Given the description of an element on the screen output the (x, y) to click on. 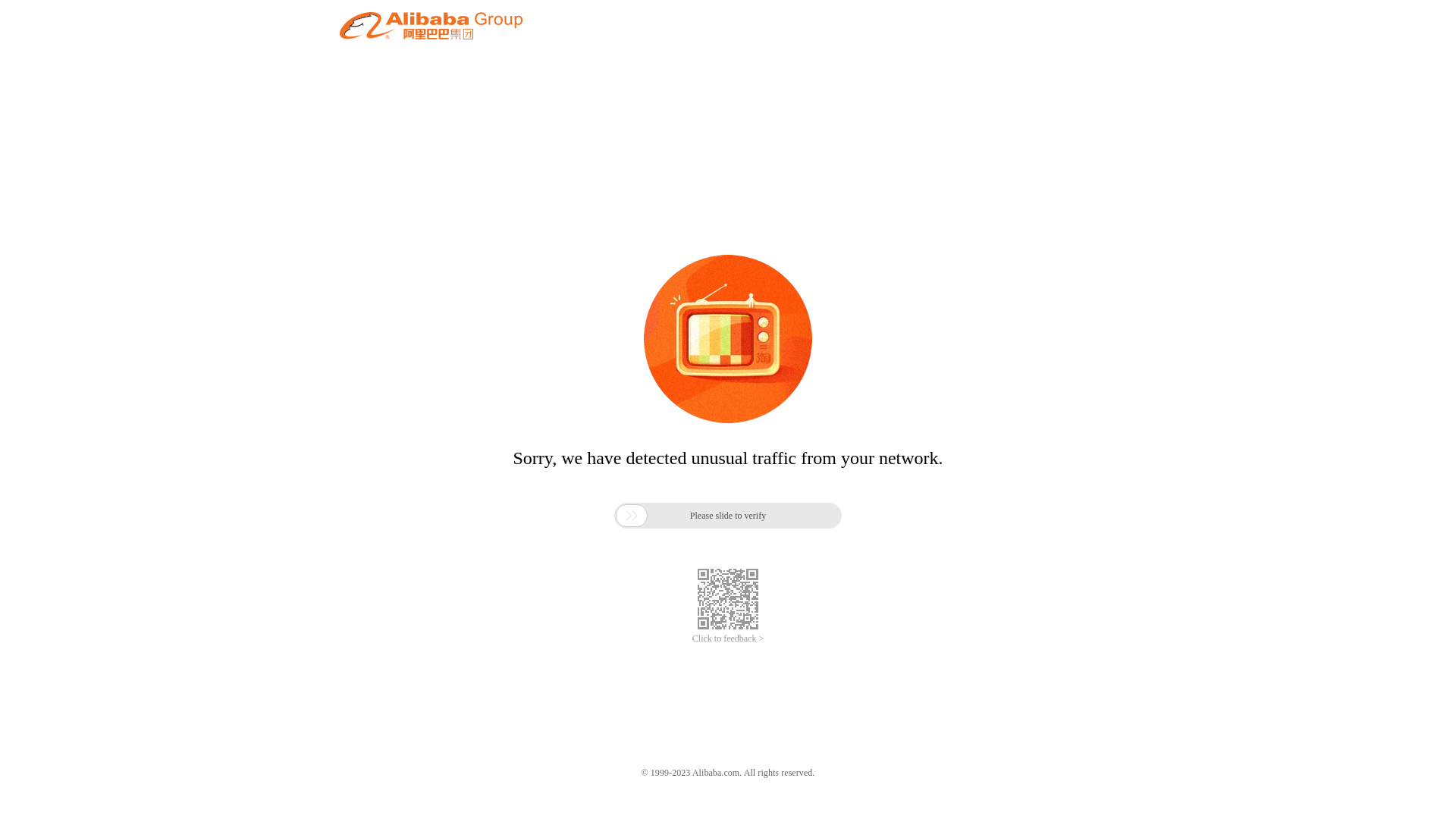
Click to feedback > Element type: text (727, 638)
